Given the description of an element on the screen output the (x, y) to click on. 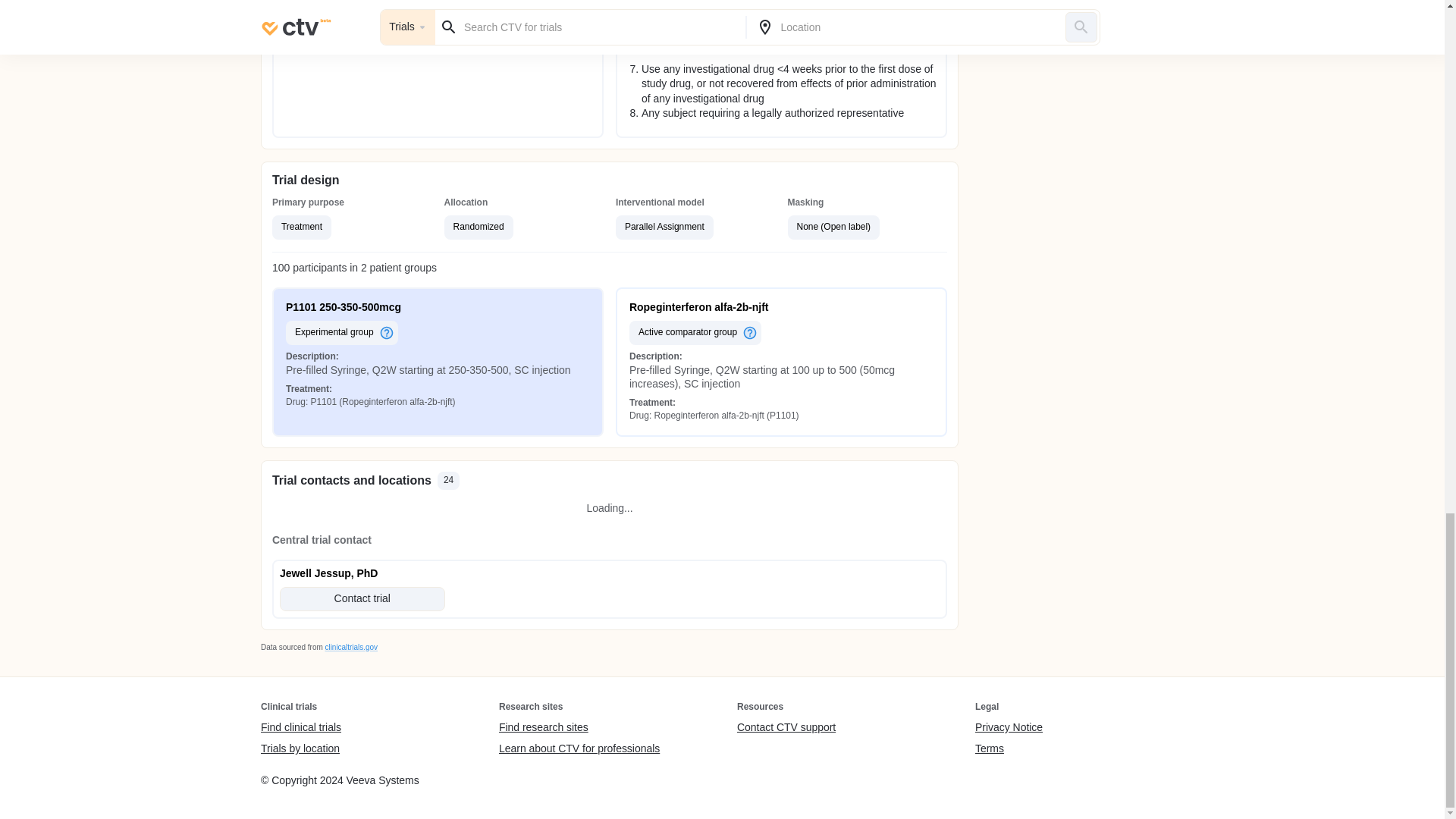
Terms (1008, 748)
Find clinical trials (300, 727)
Learn about CTV for professionals (579, 748)
Contact CTV support (785, 727)
Find research sites (579, 727)
clinicaltrials.gov (350, 646)
Privacy Notice (1008, 727)
Trials by location (300, 748)
Contact trial (362, 598)
